Given the description of an element on the screen output the (x, y) to click on. 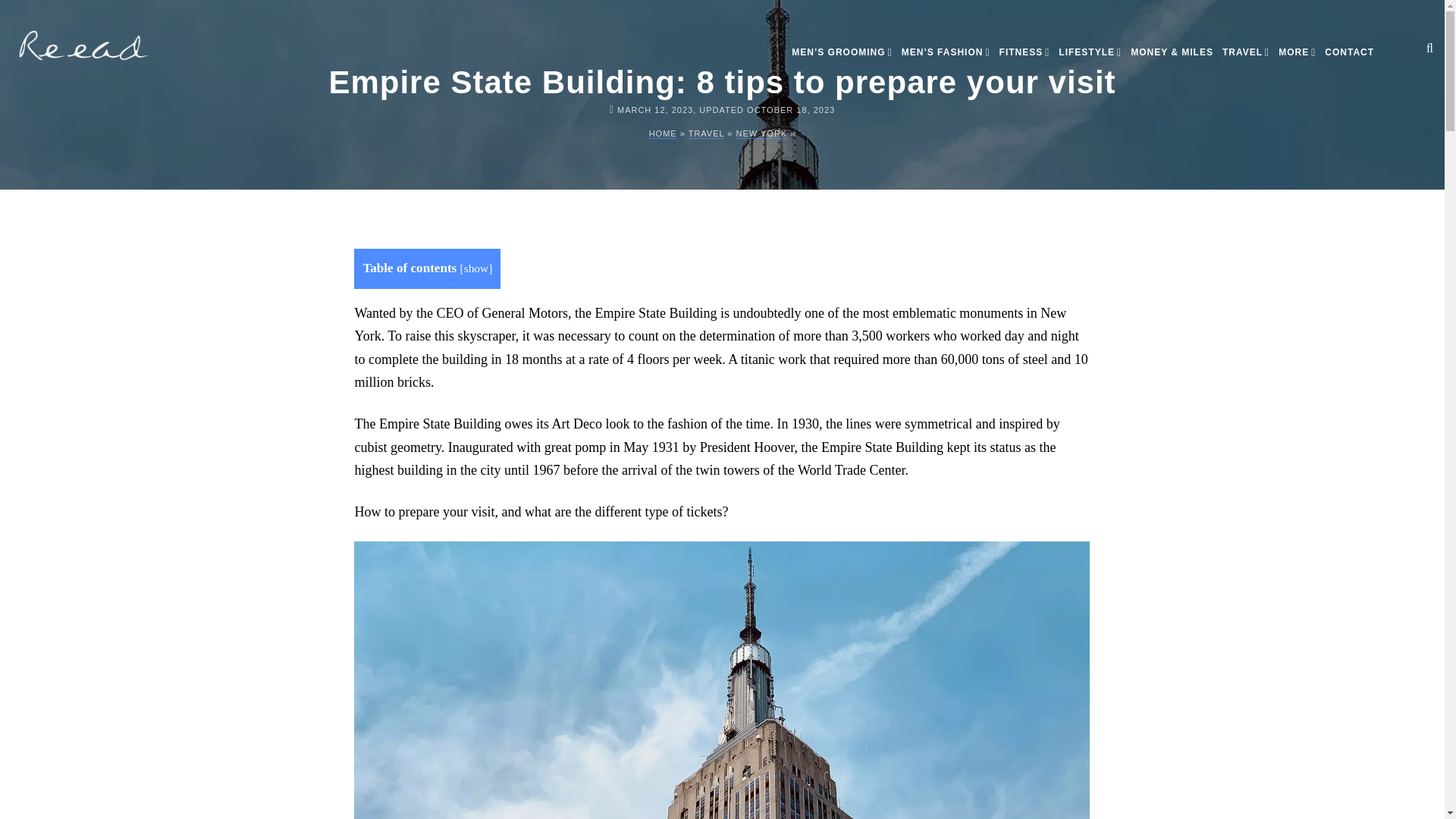
FITNESS (1023, 57)
TRAVEL (1246, 57)
LIFESTYLE (1089, 57)
